Given the description of an element on the screen output the (x, y) to click on. 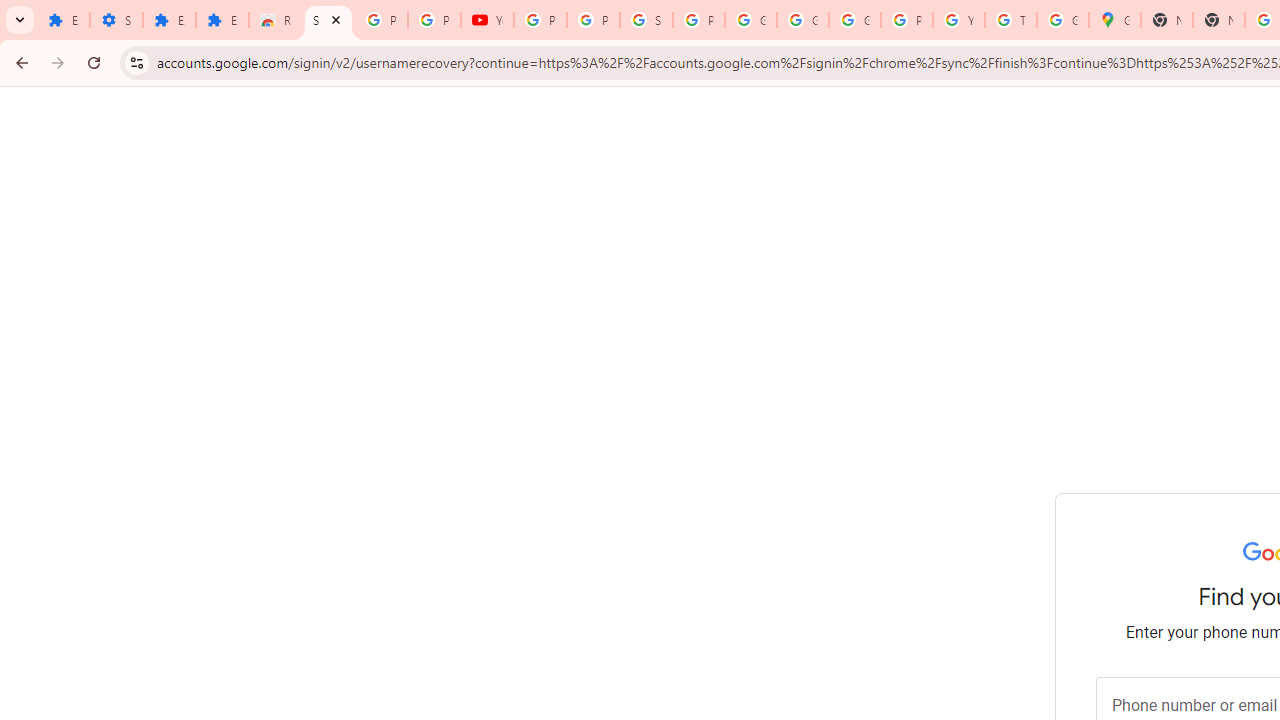
New Tab (1219, 20)
